Given the description of an element on the screen output the (x, y) to click on. 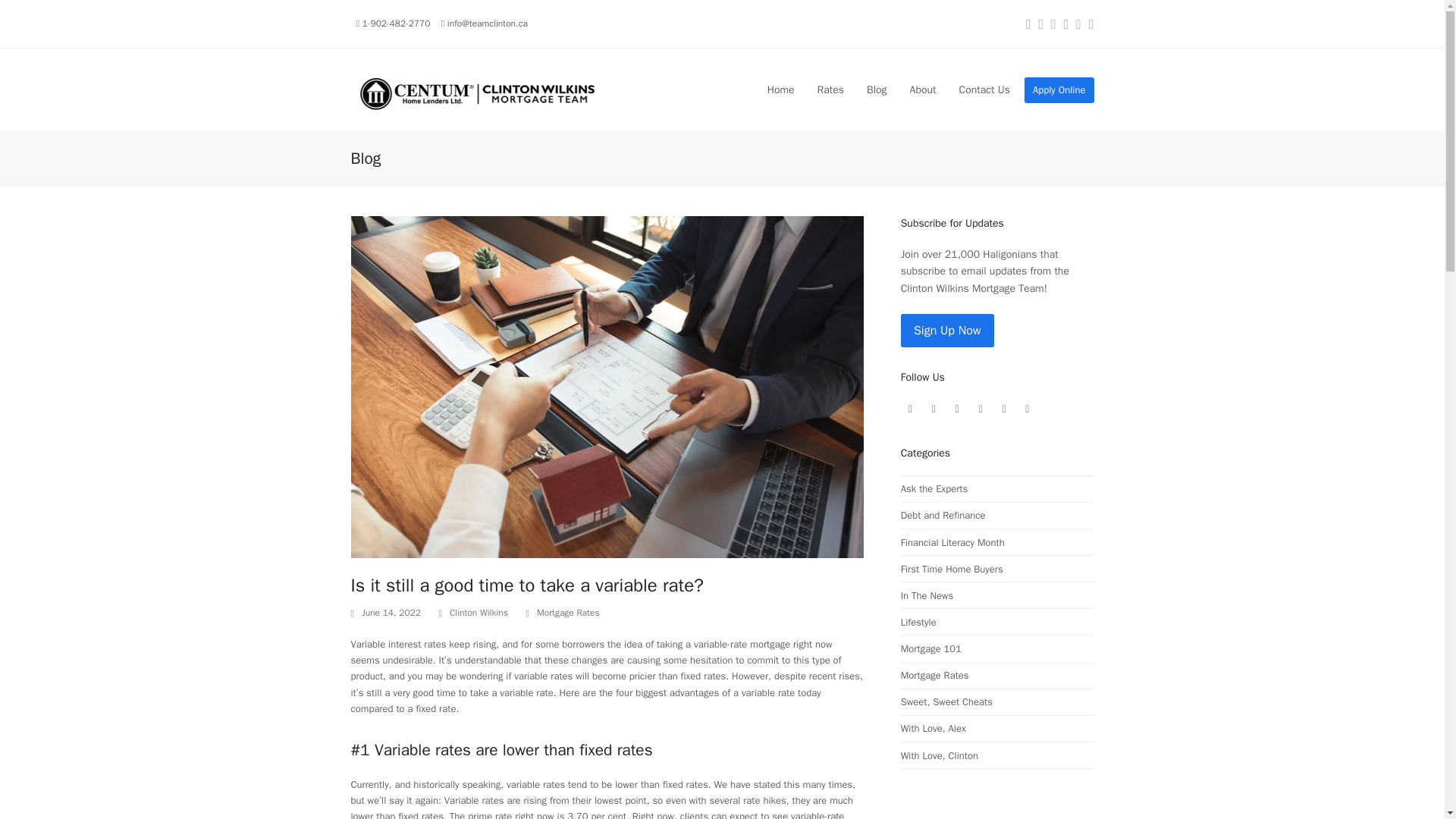
Posts by Clinton Wilkins (478, 612)
YouTube (1003, 409)
Apply Online (1059, 89)
Twitter (956, 409)
Instagram (933, 409)
Facebook (910, 409)
Tiktok (980, 409)
Spotify (1026, 409)
Blog (877, 89)
Sign Up Now (947, 330)
